Given the description of an element on the screen output the (x, y) to click on. 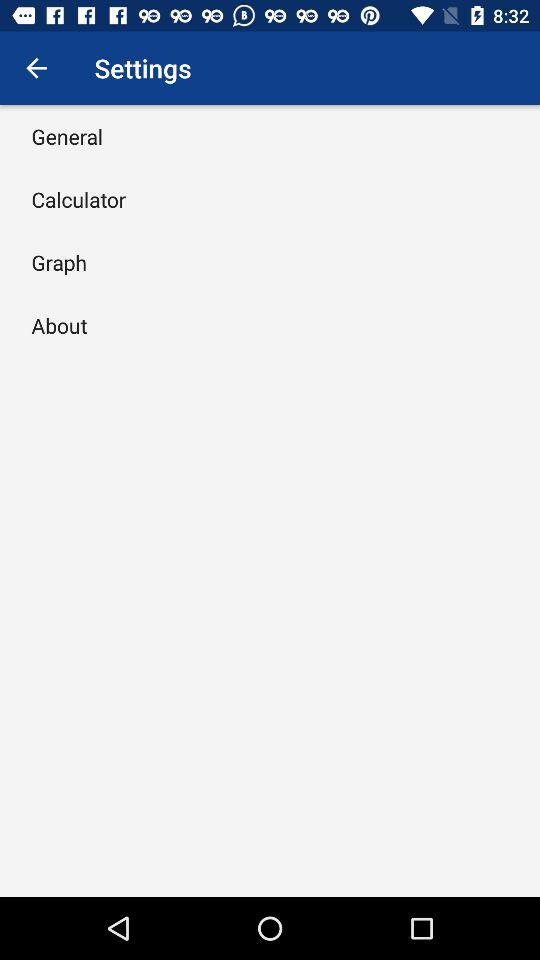
open the icon next to the settings (36, 68)
